Given the description of an element on the screen output the (x, y) to click on. 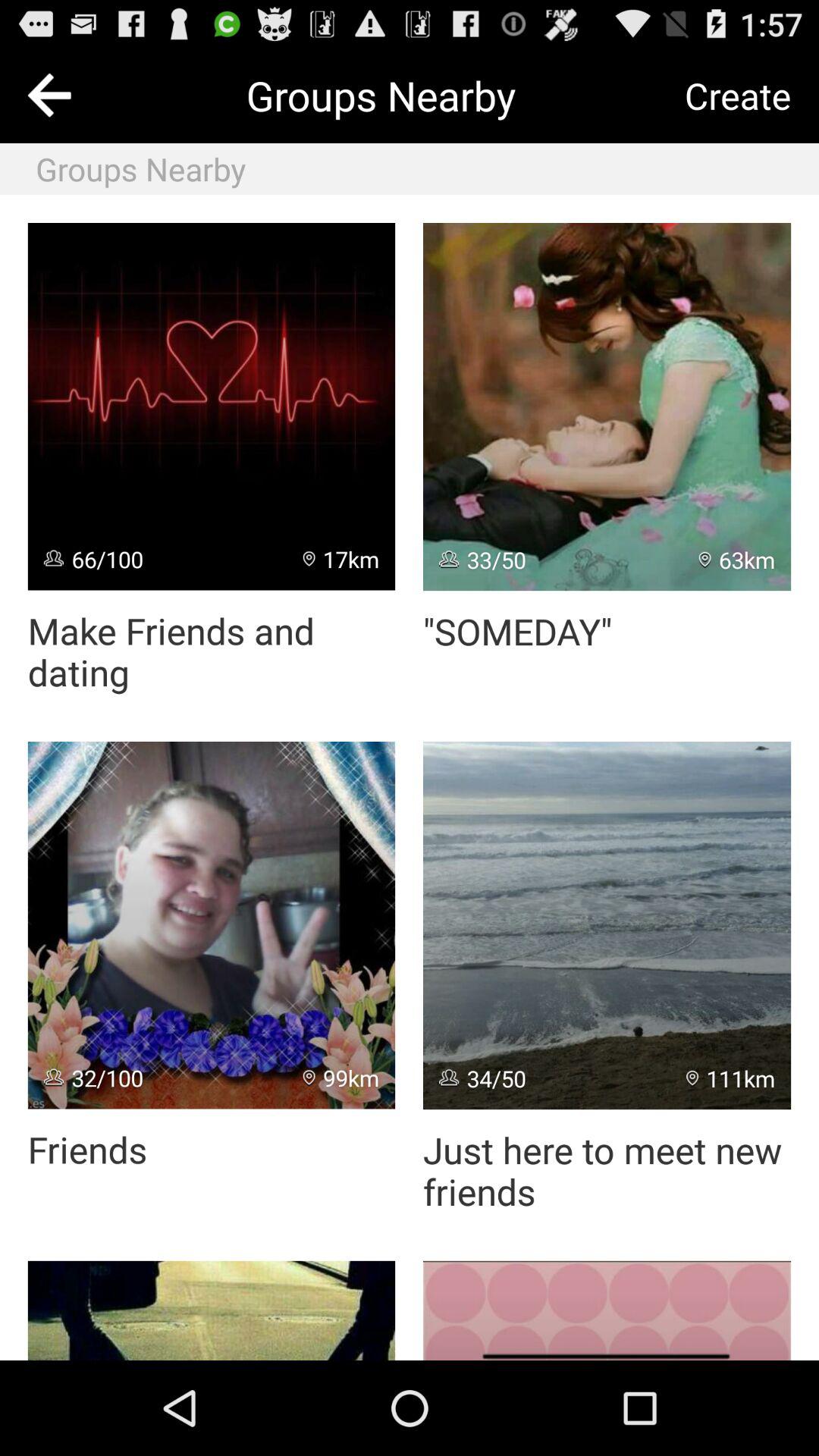
choose icon above the "someday" item (607, 406)
